Given the description of an element on the screen output the (x, y) to click on. 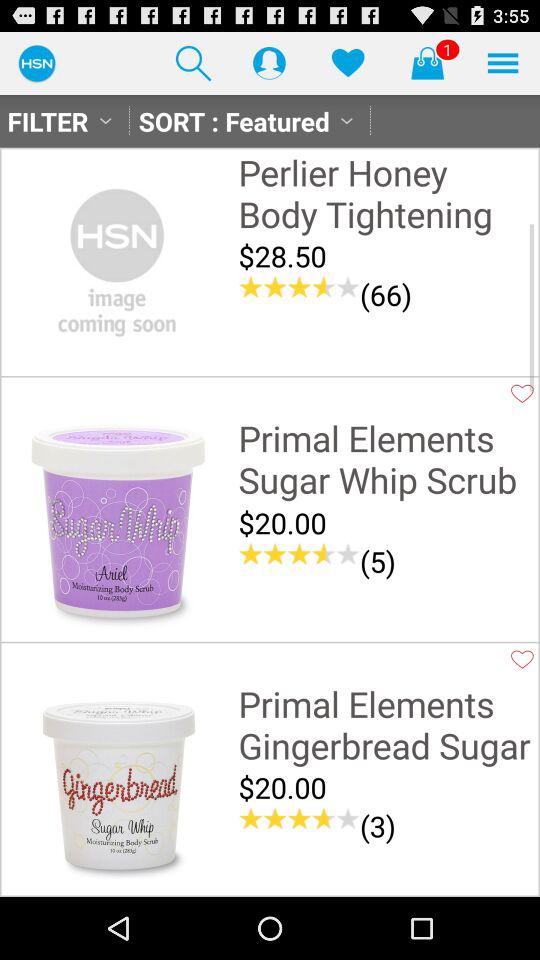
press like (522, 659)
